Given the description of an element on the screen output the (x, y) to click on. 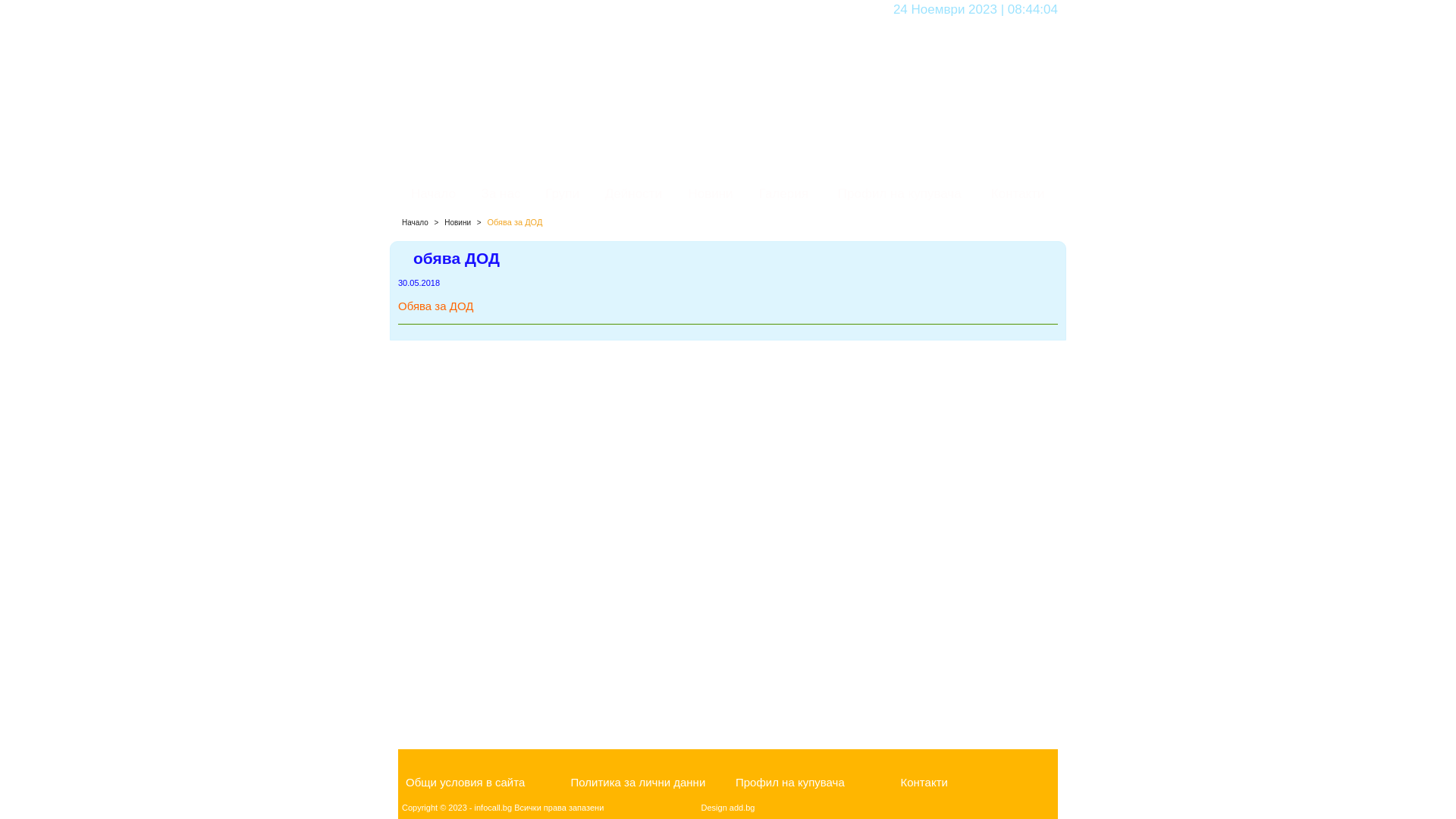
Design add.bg Element type: text (728, 807)
